Given the description of an element on the screen output the (x, y) to click on. 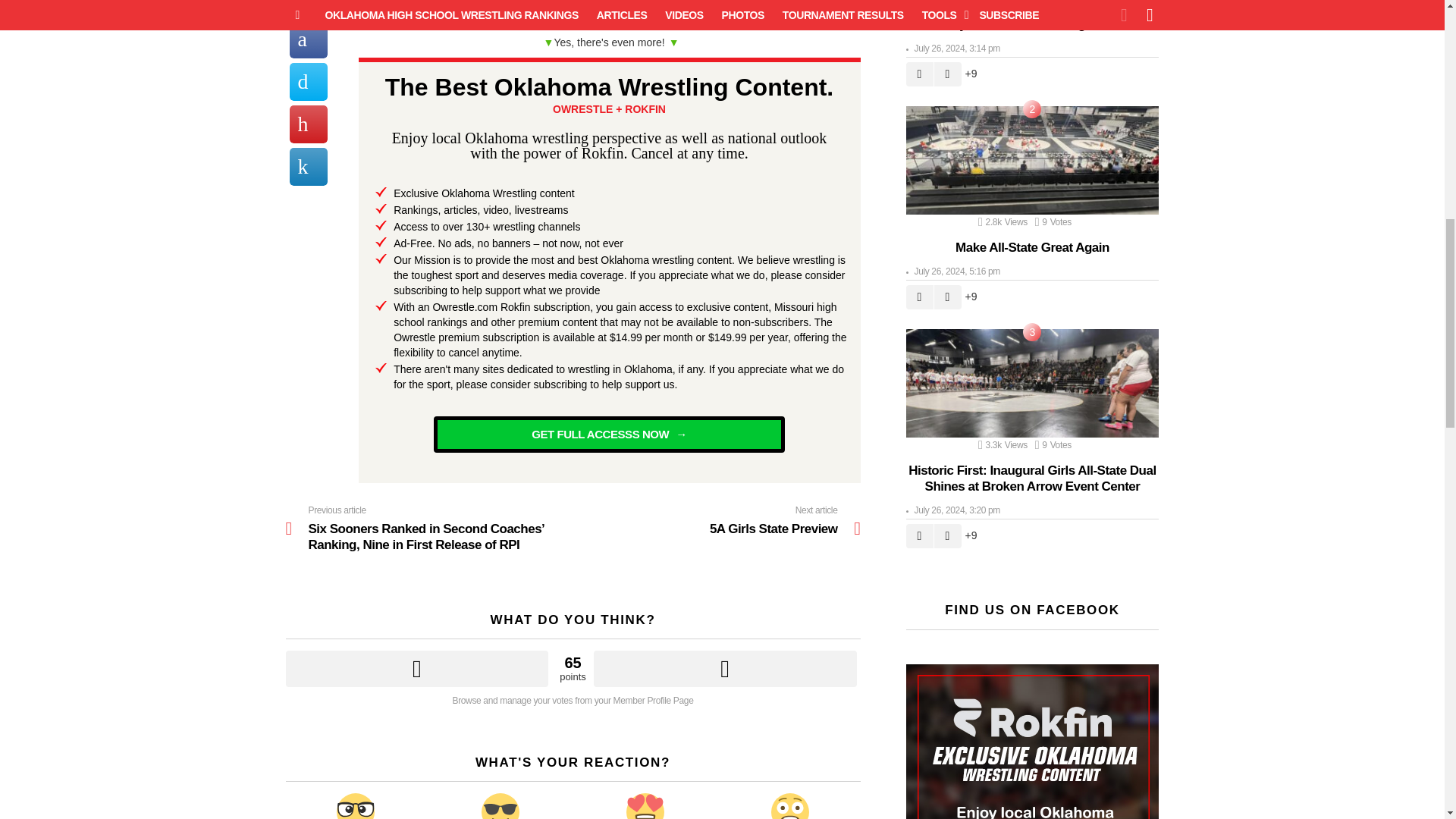
Share on Pinterest (308, 37)
Upvote (416, 668)
Downvote (725, 668)
Share on LinkedIn (308, 80)
GET FULL ACCESSS NOW (608, 434)
Share on Twitter (308, 7)
Downvote (725, 668)
Upvote (716, 520)
